Given the description of an element on the screen output the (x, y) to click on. 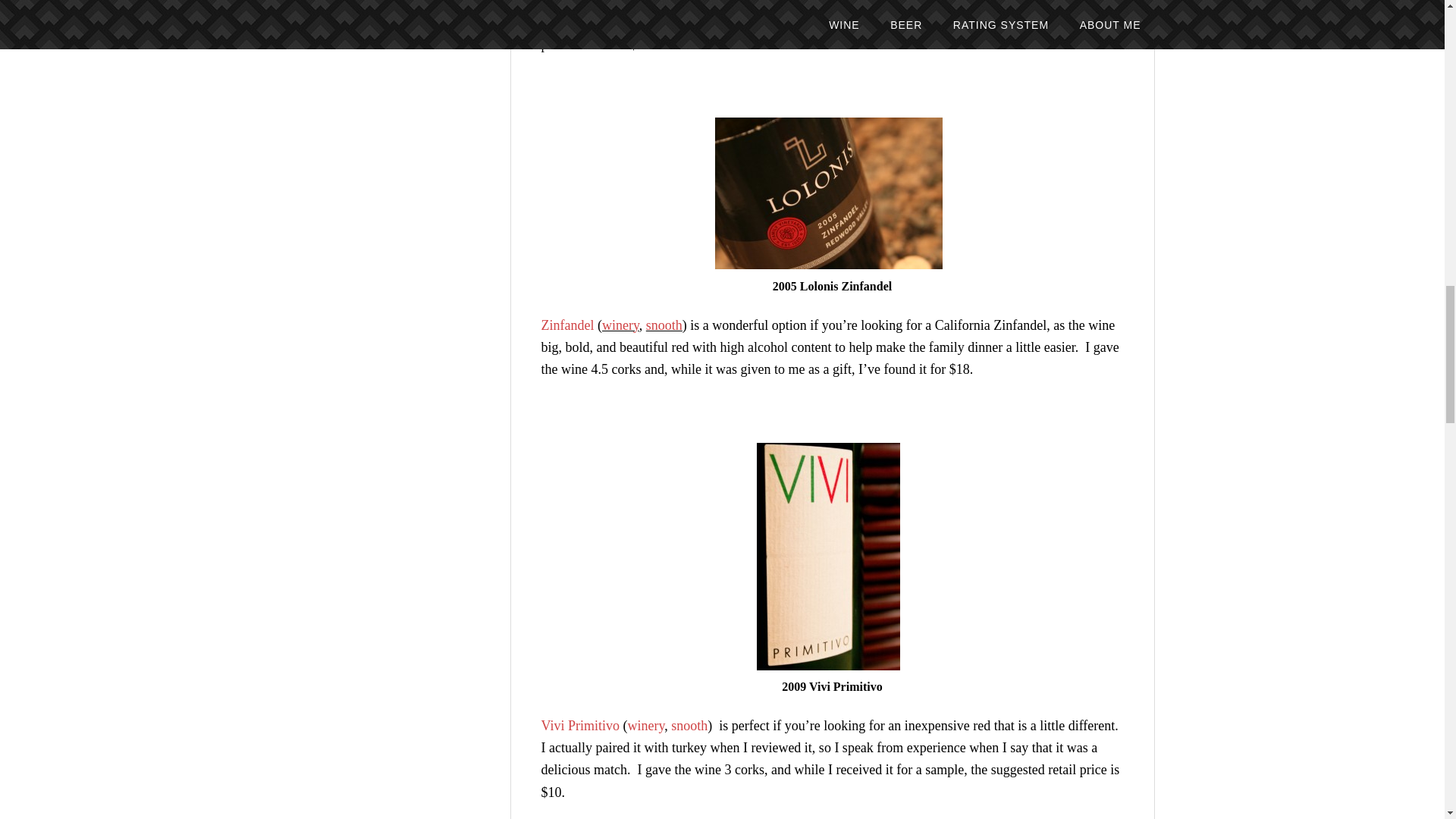
2005 Lolonis Zinfandel (828, 193)
